Given the description of an element on the screen output the (x, y) to click on. 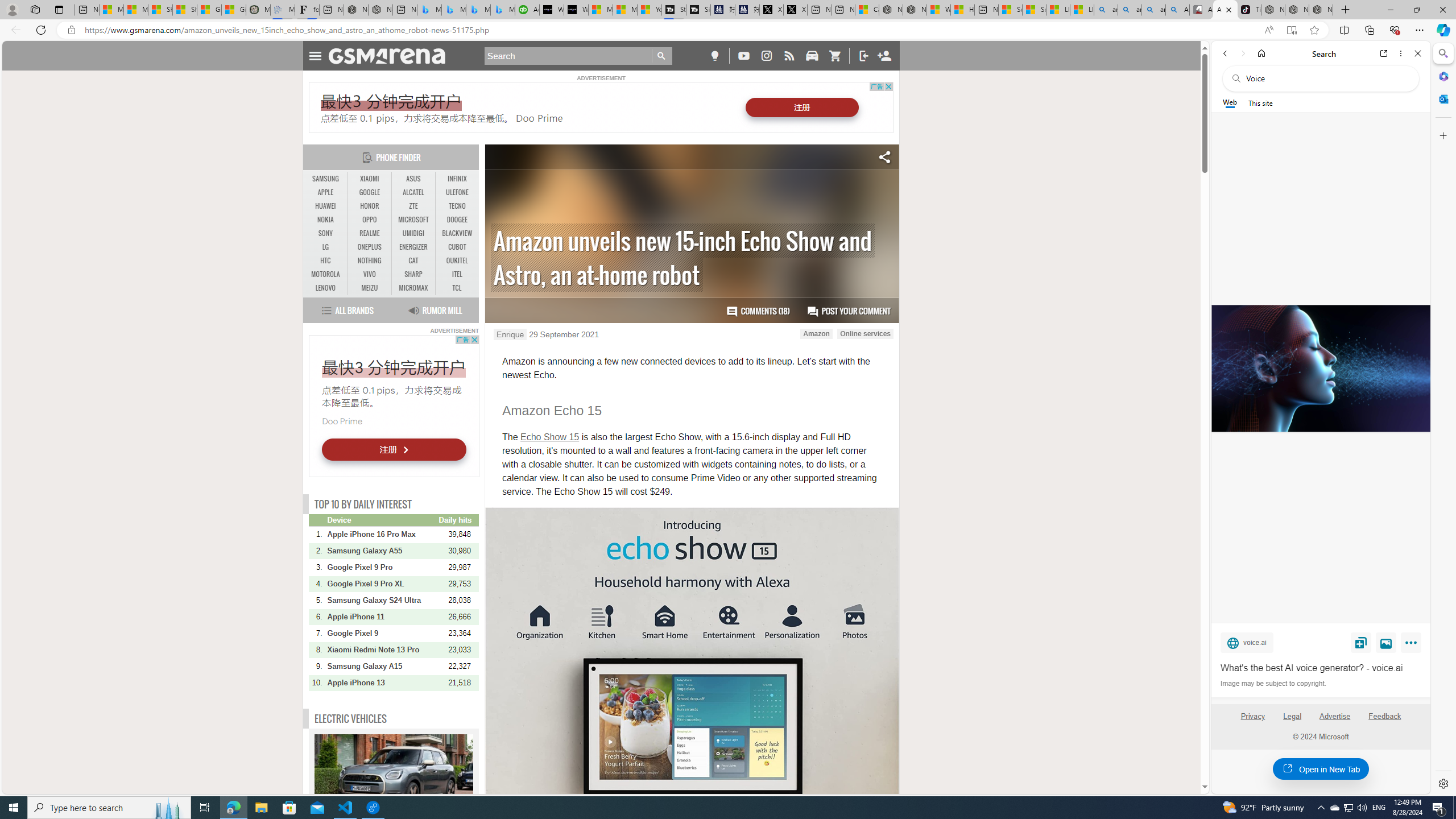
Legal (1292, 720)
HTC (325, 260)
MEIZU (369, 287)
GOOGLE (369, 192)
ZTE (413, 206)
This site scope (1259, 102)
To get missing image descriptions, open the context menu. (692, 232)
HUAWEI (325, 205)
GOOGLE (369, 192)
